Given the description of an element on the screen output the (x, y) to click on. 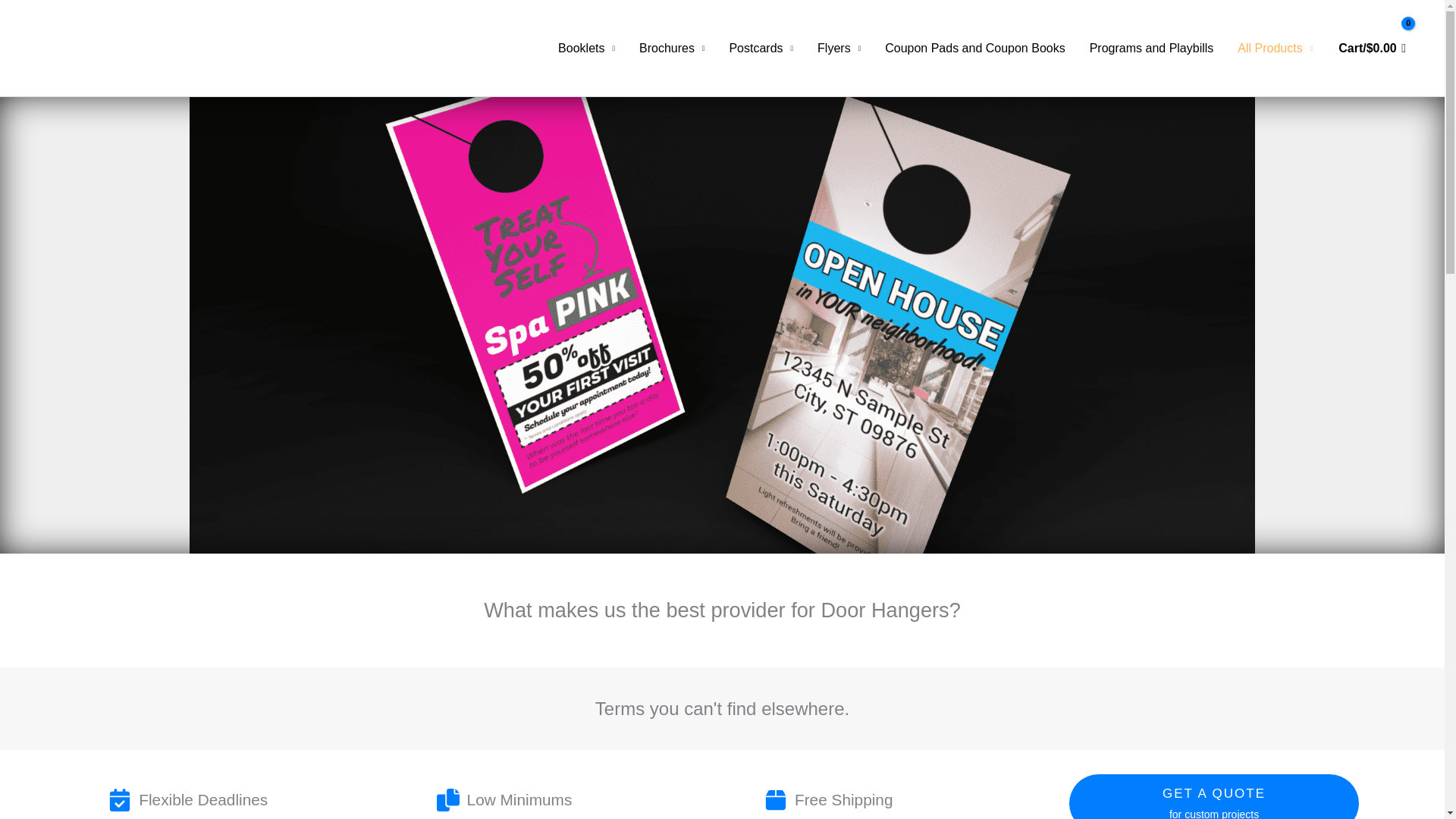
Programs and Playbills (1151, 48)
Postcards (760, 48)
Coupon Pads and Coupon Books (974, 48)
Flyers (838, 48)
All Products (1274, 48)
Booklets (586, 48)
Brochures (671, 48)
